Given the description of an element on the screen output the (x, y) to click on. 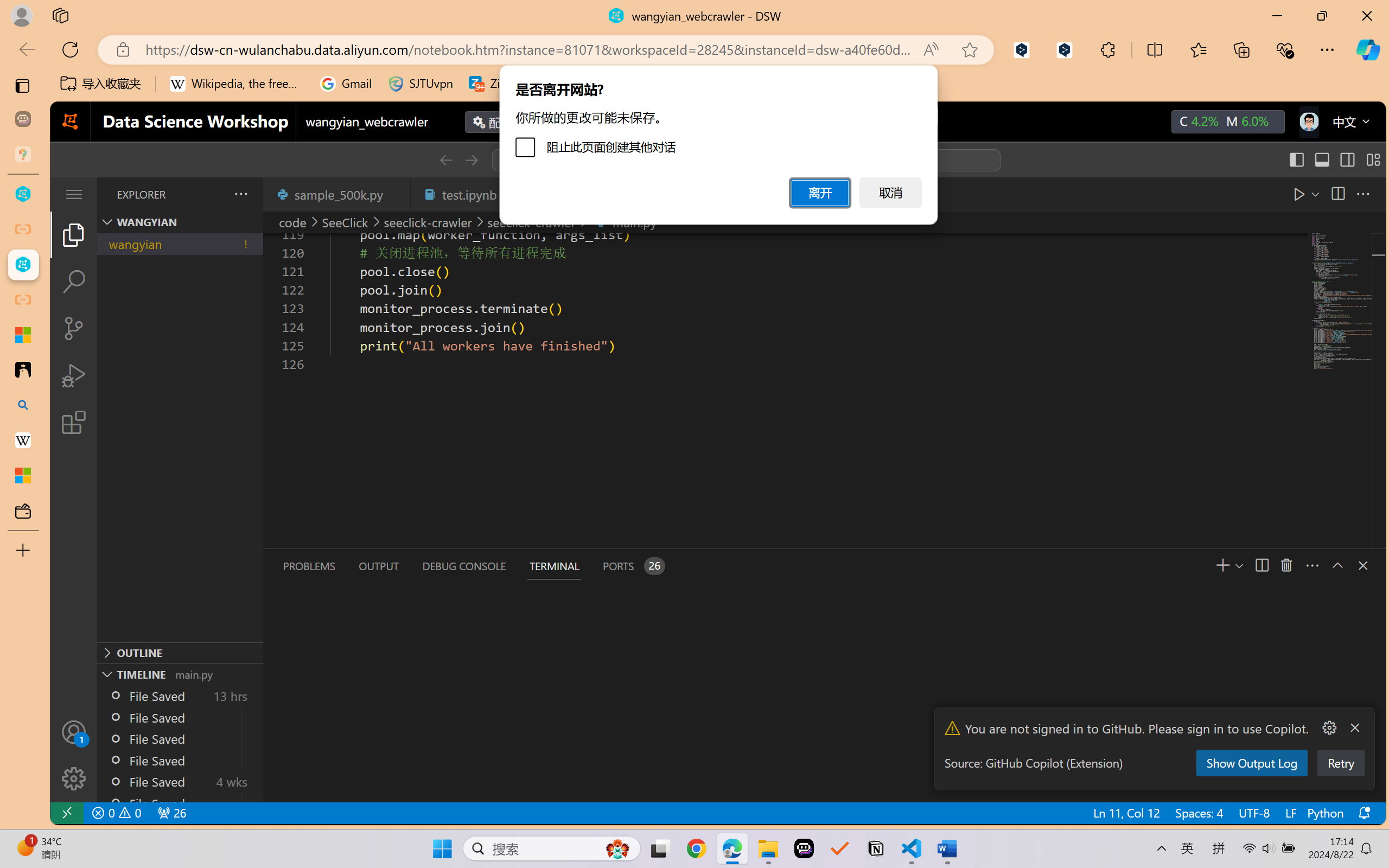
Maximize Panel Size (1337, 565)
Editor actions (1319, 194)
icon (1308, 121)
Terminal actions (1002, 565)
Toggle Primary Side Bar (Ctrl+B) (1295, 159)
Notifications (1363, 812)
Timeline Section (179, 673)
C4.2% M6.0% (1227, 121)
